Given the description of an element on the screen output the (x, y) to click on. 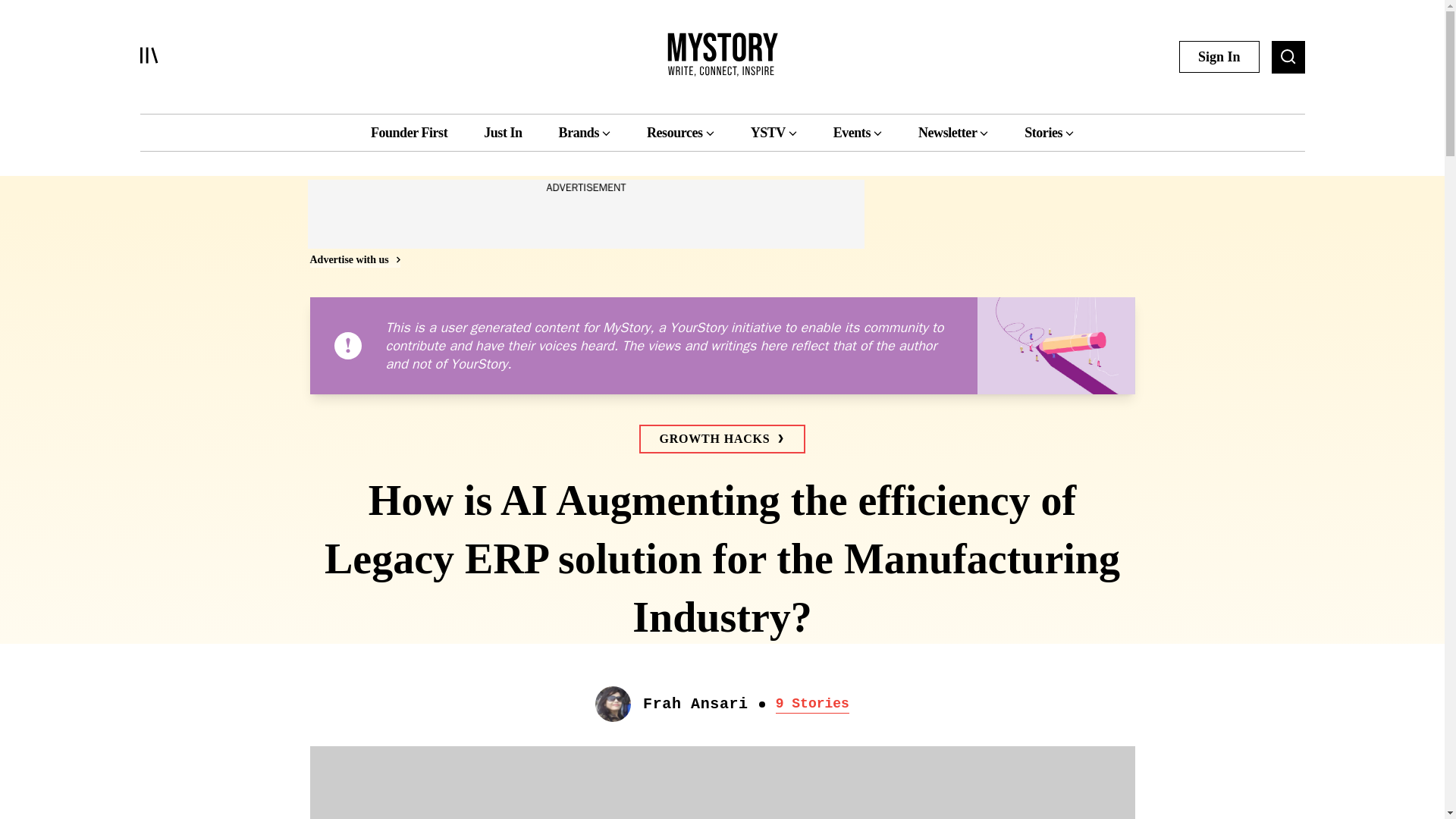
Just In (502, 132)
Founder First (408, 132)
GROWTH HACKS (722, 439)
Advertise with us (353, 259)
Frah Ansari (695, 703)
9 Stories (812, 703)
